Given the description of an element on the screen output the (x, y) to click on. 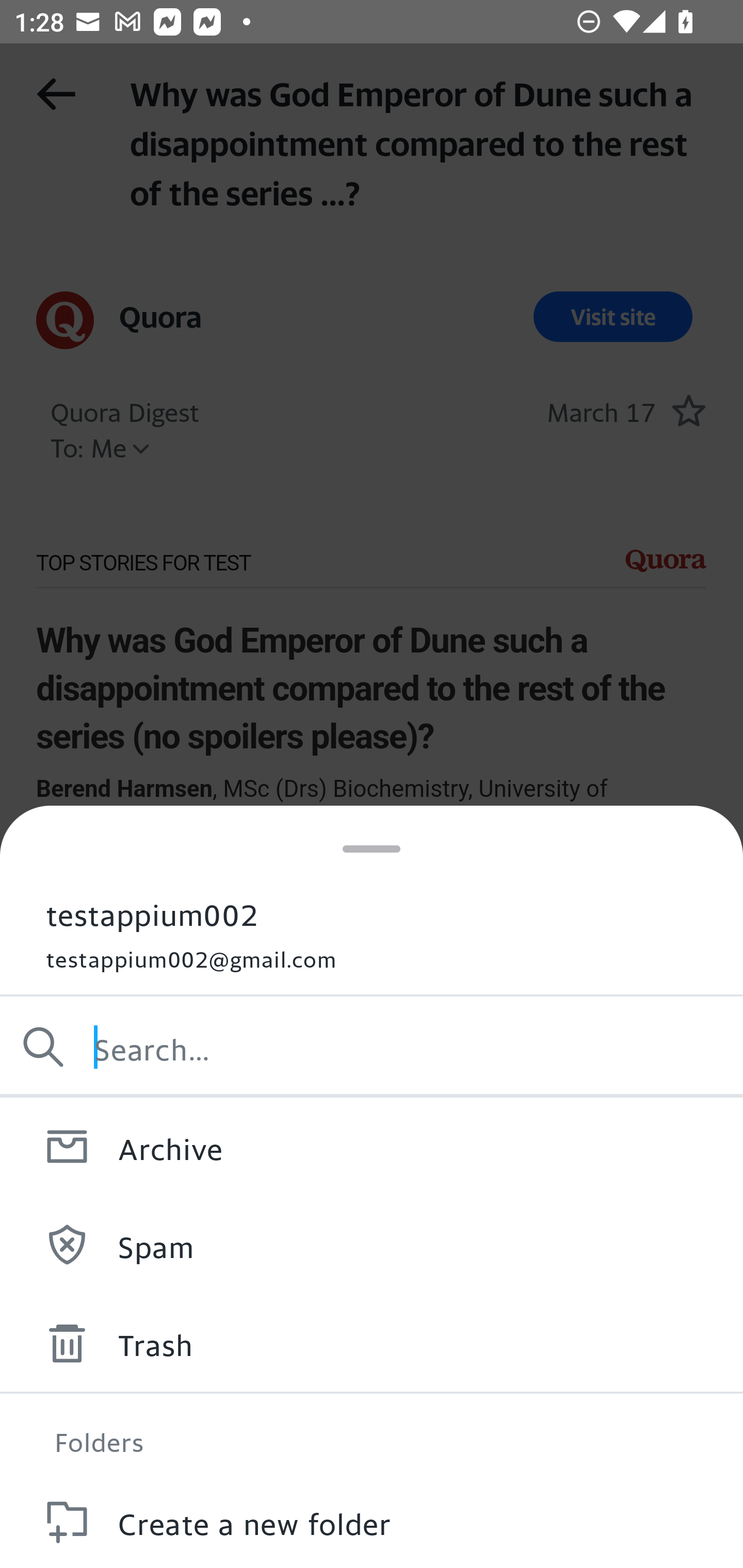
Search… (371, 1047)
Archive (371, 1145)
Spam (371, 1243)
Trash (371, 1342)
Create a new folder (371, 1520)
